Given the description of an element on the screen output the (x, y) to click on. 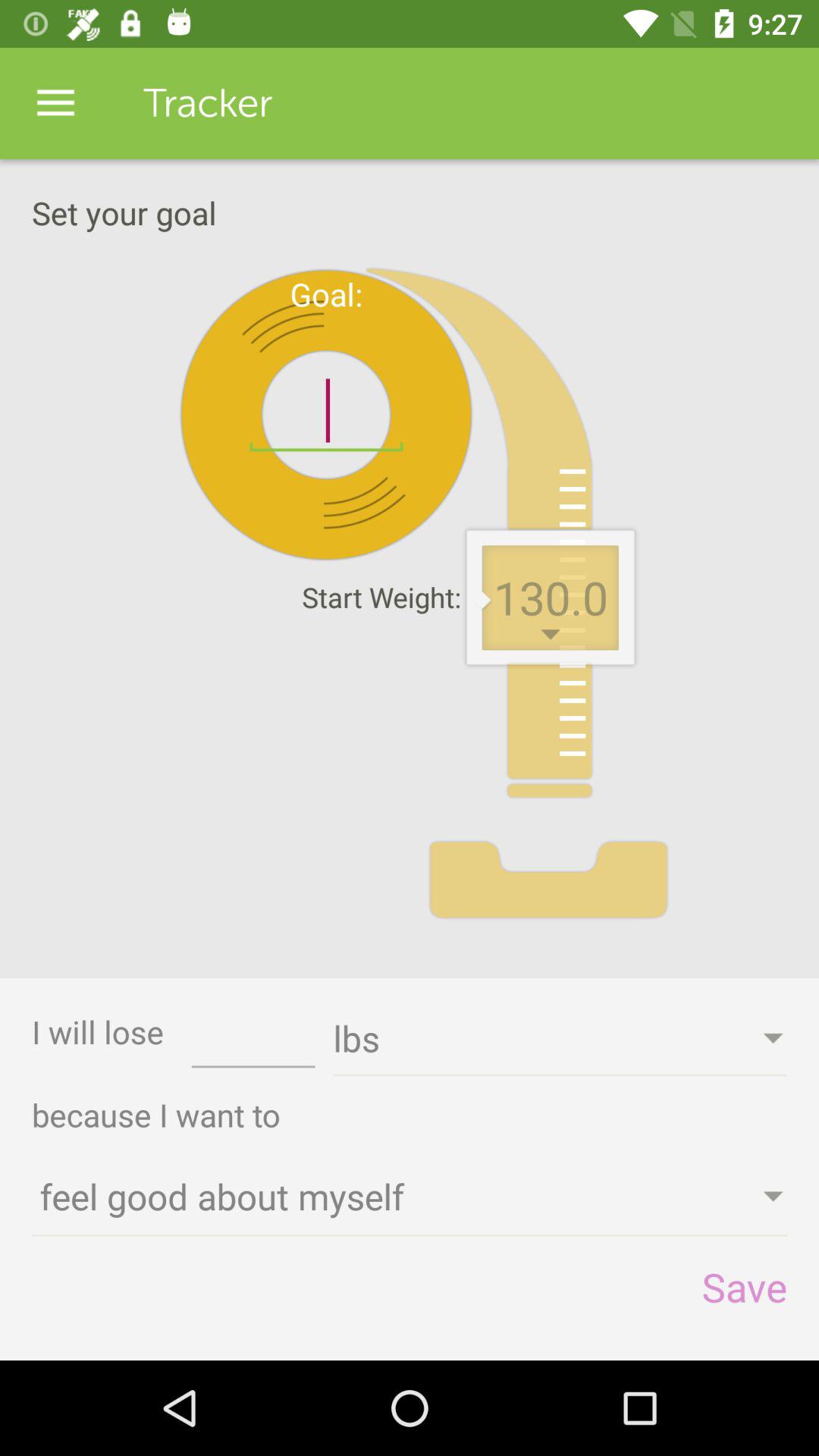
choose the icon next to the lbs (253, 1043)
